Given the description of an element on the screen output the (x, y) to click on. 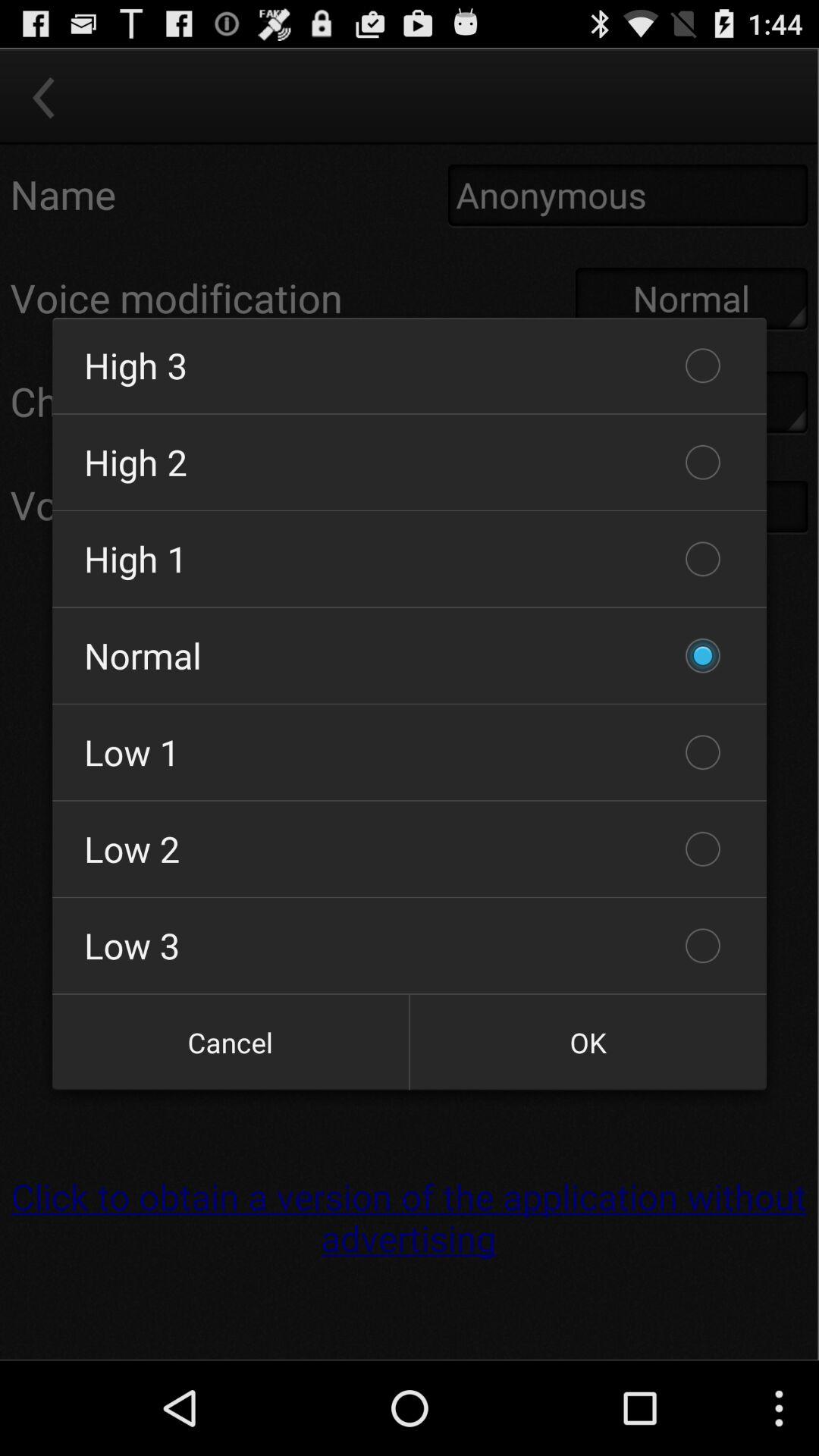
open checkbox below low 3 (230, 1042)
